Given the description of an element on the screen output the (x, y) to click on. 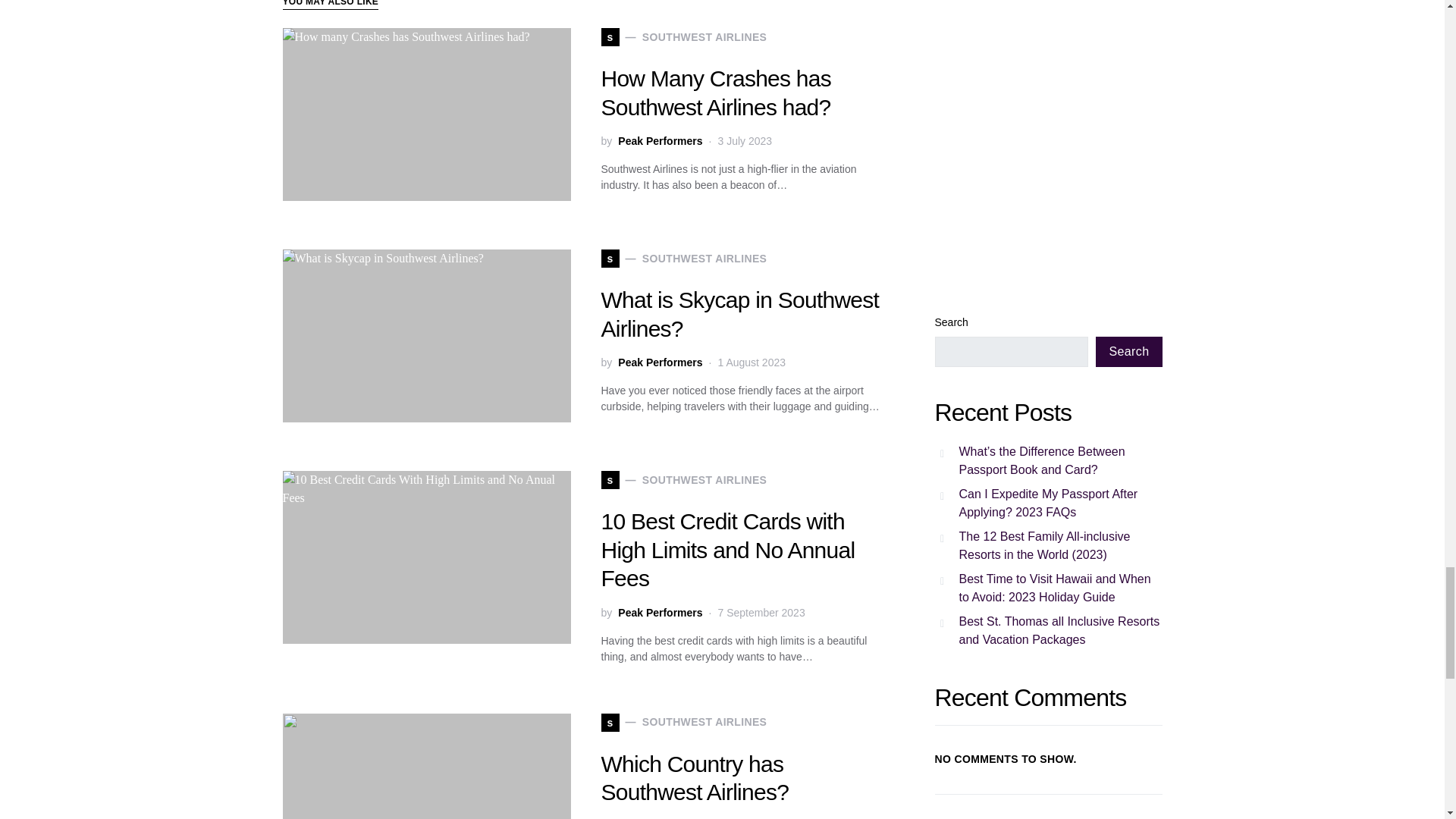
View all posts by Peak Performers (659, 141)
View all posts by Peak Performers (683, 479)
What is Skycap in Southwest Airlines? (659, 362)
View all posts by Peak Performers (683, 258)
Peak Performers (739, 314)
Peak Performers (659, 612)
Peak Performers (659, 612)
How Many Crashes has Southwest Airlines had? (683, 36)
10 Best Credit Cards with High Limits and No Annual Fees (659, 141)
